Given the description of an element on the screen output the (x, y) to click on. 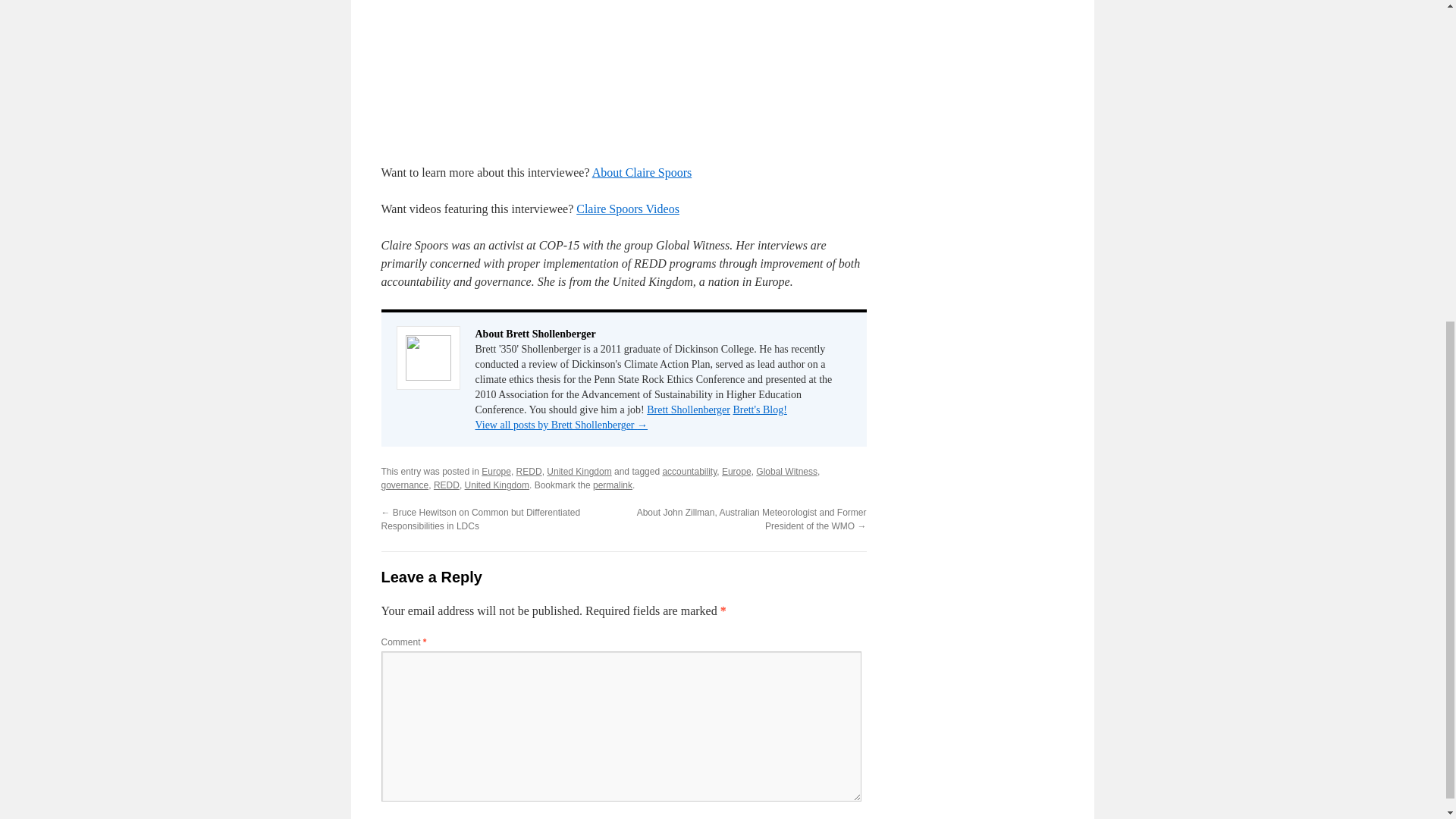
United Kingdom (579, 471)
permalink (611, 484)
Claire Spoors Videos (627, 208)
Permalink to Claire Spoors (611, 484)
REDD (528, 471)
accountability (689, 471)
United Kingdom (496, 484)
Europe (736, 471)
About Claire Spoors (642, 172)
governance (404, 484)
